Given the description of an element on the screen output the (x, y) to click on. 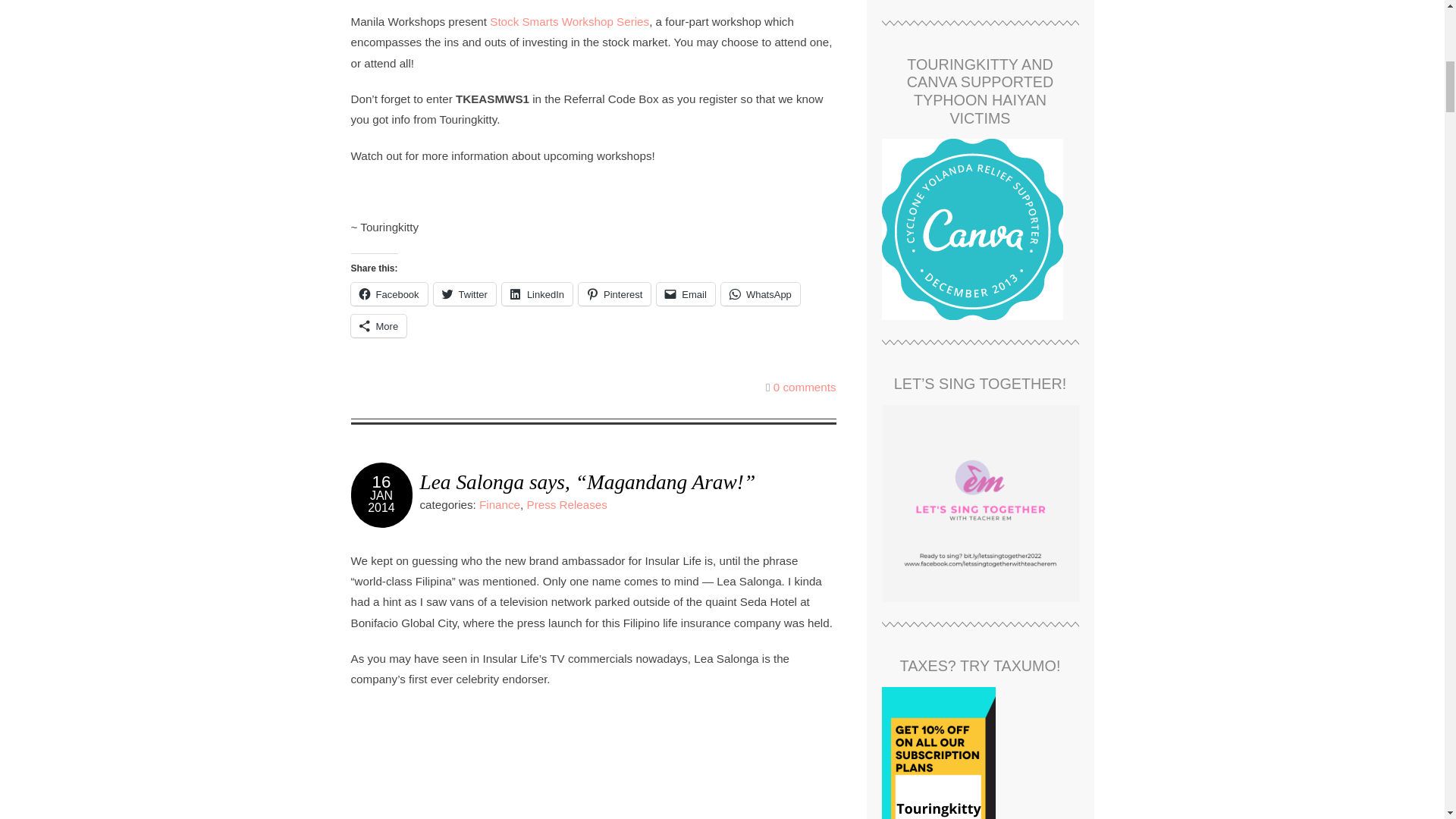
Click to share on LinkedIn (537, 293)
Finance (499, 504)
WhatsApp (759, 293)
LinkedIn (537, 293)
More (378, 325)
Click to share on Facebook (388, 293)
Facebook (388, 293)
Stock Smarts Workshop Series (569, 21)
Press Releases (567, 504)
Click to email a link to a friend (685, 293)
Click to share on Pinterest (614, 293)
Pinterest (614, 293)
Click to share on WhatsApp (759, 293)
Click to share on Twitter (464, 293)
16 (381, 481)
